Given the description of an element on the screen output the (x, y) to click on. 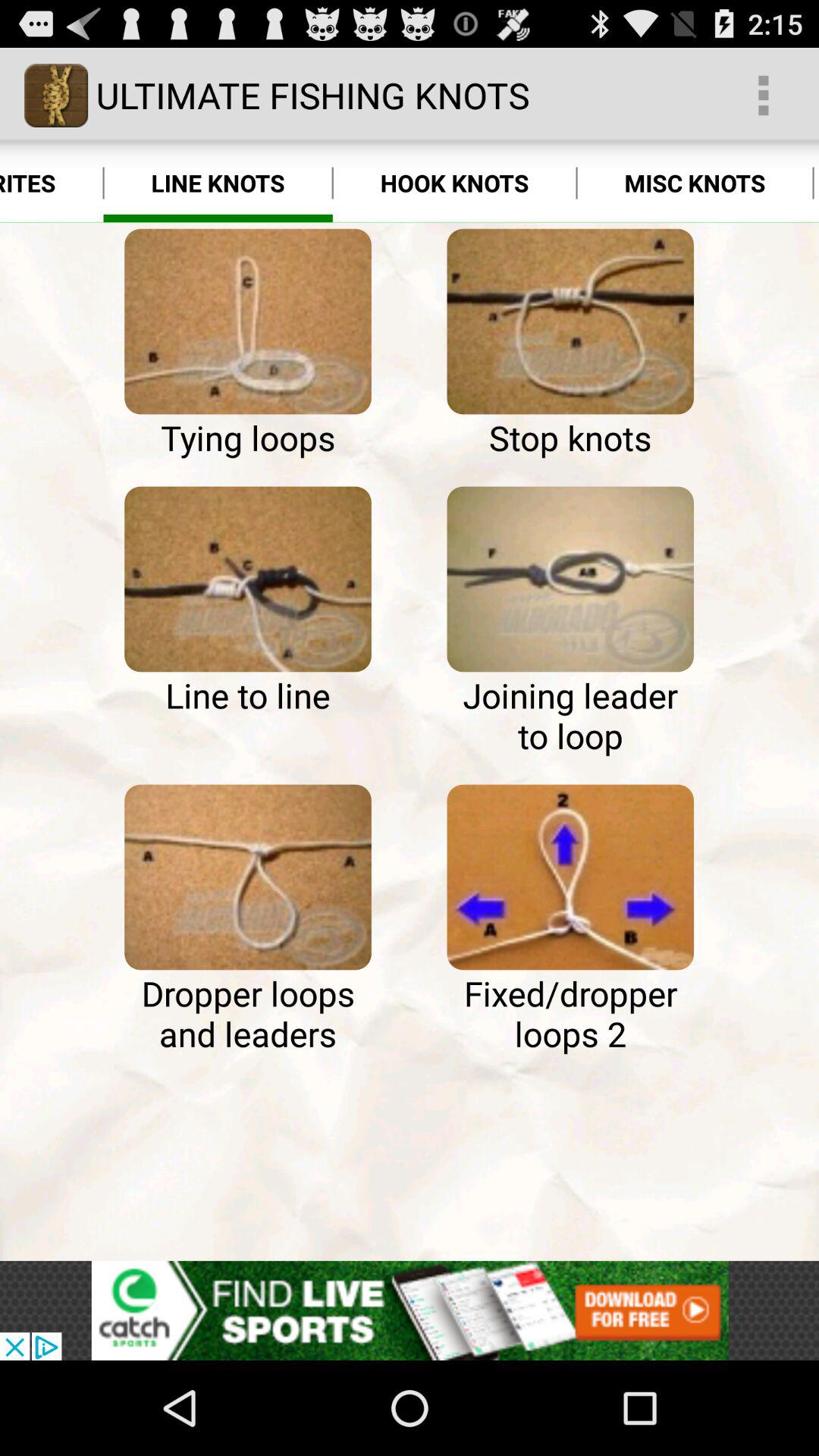
adverts (409, 1310)
